Given the description of an element on the screen output the (x, y) to click on. 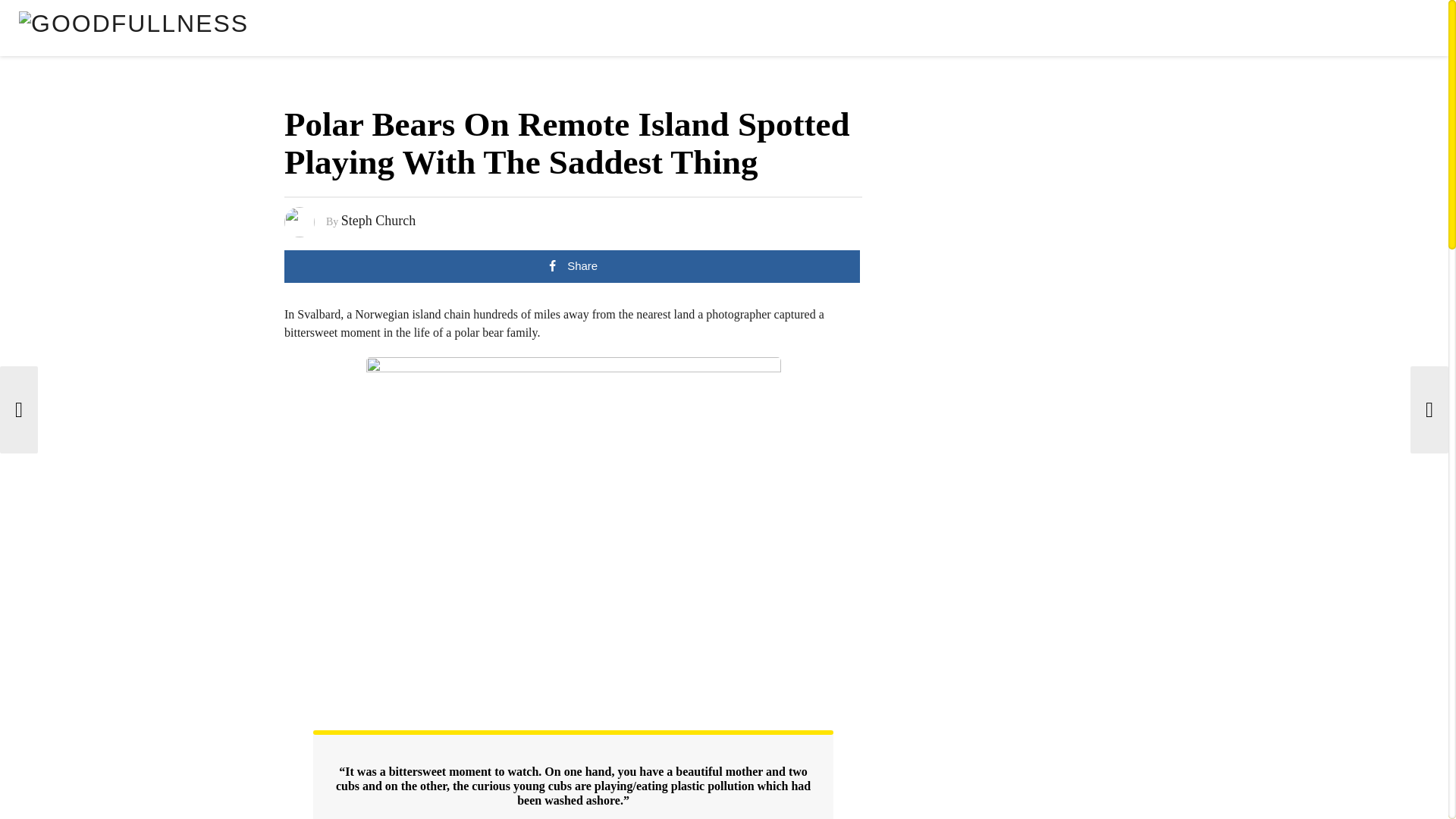
Steph Church (378, 220)
ENTERTAINMENT (1250, 32)
Share (571, 266)
HEALTH (1401, 32)
DIY (1317, 32)
LIFE (1353, 32)
SHOP (1116, 32)
ANIMALS (1167, 32)
